Given the description of an element on the screen output the (x, y) to click on. 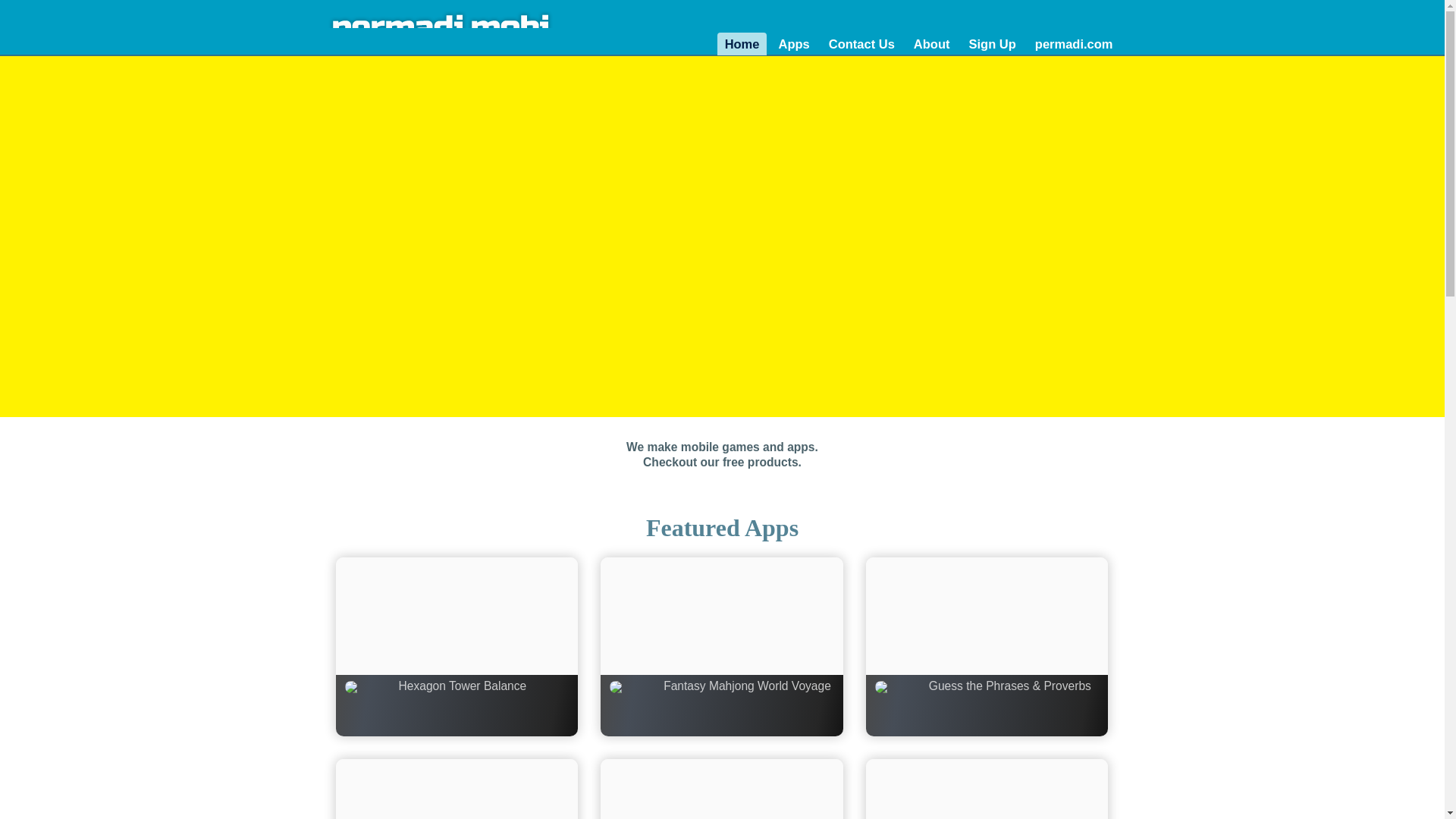
Sign Up (991, 43)
Permadi.mobi (445, 27)
Soccer Knockdown (456, 789)
Contact Us (861, 43)
Home (742, 43)
Apps (793, 43)
Fantasy Mahjong World Voyage (721, 646)
Mahjong Galaxy Space (987, 789)
Hexagon Tower Balance (456, 646)
permadi.com (1074, 43)
